Given the description of an element on the screen output the (x, y) to click on. 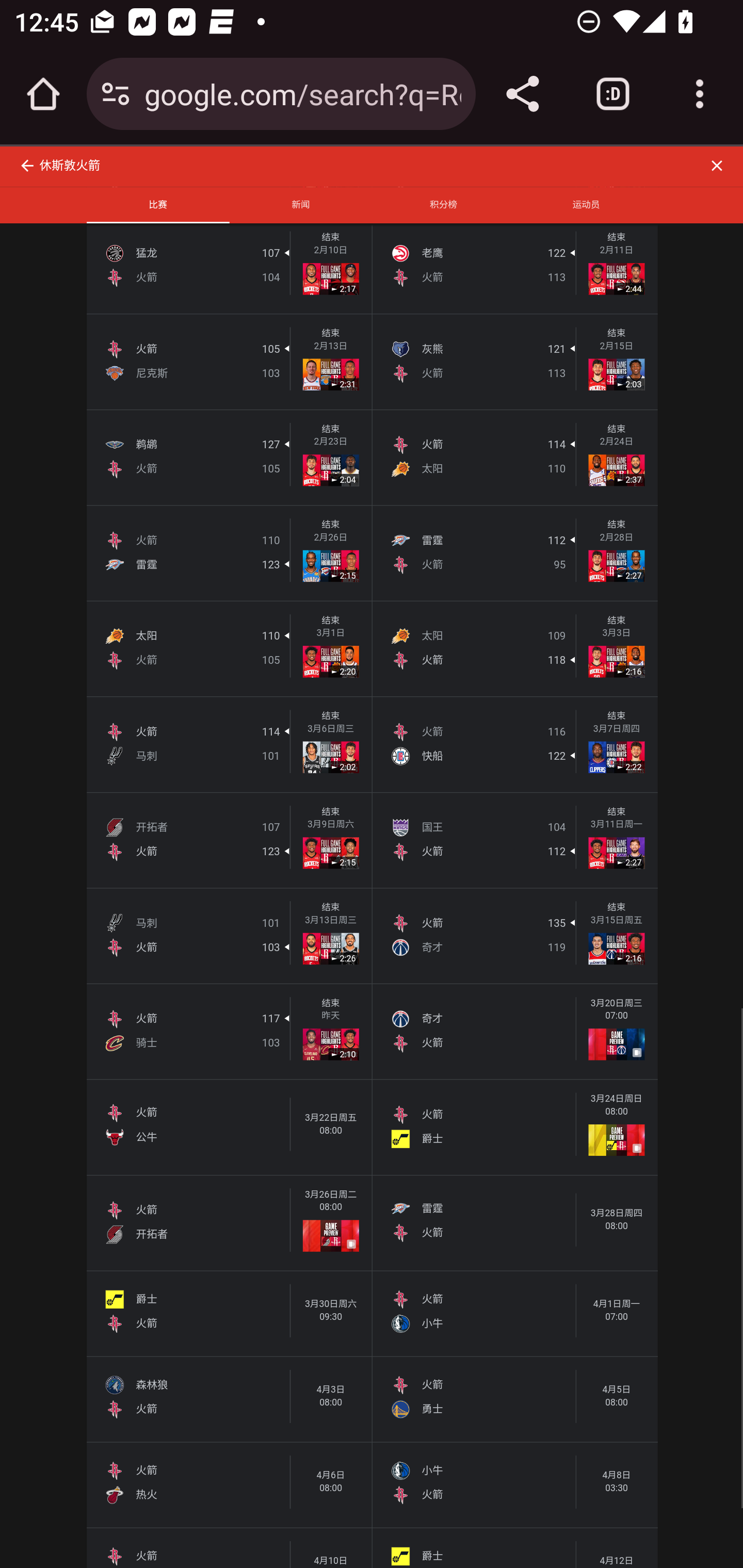
Open the home page (43, 93)
Connection is secure (115, 93)
Share (522, 93)
Switch or close tabs (612, 93)
Customize and control Google Chrome (699, 93)
比赛 (157, 205)
新闻 (300, 205)
积分榜 (443, 205)
运动员 (585, 205)
4月5日 08:00 火箭 勇士 4月5日 08:00 4月5日 08:00 火箭 火箭 勇士 勇士 (514, 1398)
4月6日 08:00 火箭 热火 4月6日 08:00 4月6日 08:00 火箭 火箭 热火 热火 (228, 1484)
4月8日 03:30 小牛 火箭 4月8日 03:30 4月8日 03:30 小牛 小牛 火箭 火箭 (514, 1484)
